Given the description of an element on the screen output the (x, y) to click on. 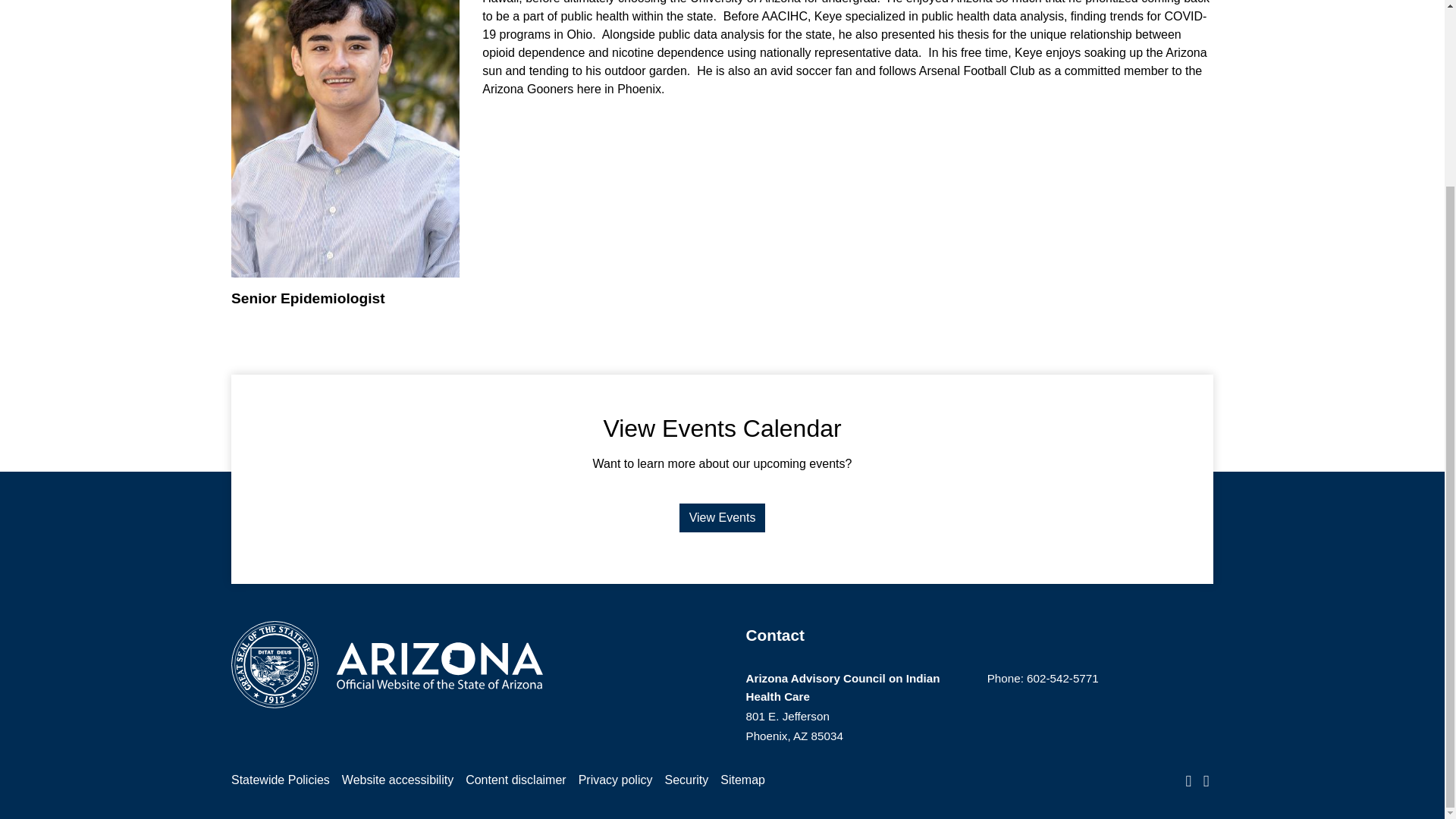
View Events (722, 517)
Phone: 602-542-5771 (1043, 677)
Statewide Policies (280, 779)
Website accessibility (397, 779)
